Given the description of an element on the screen output the (x, y) to click on. 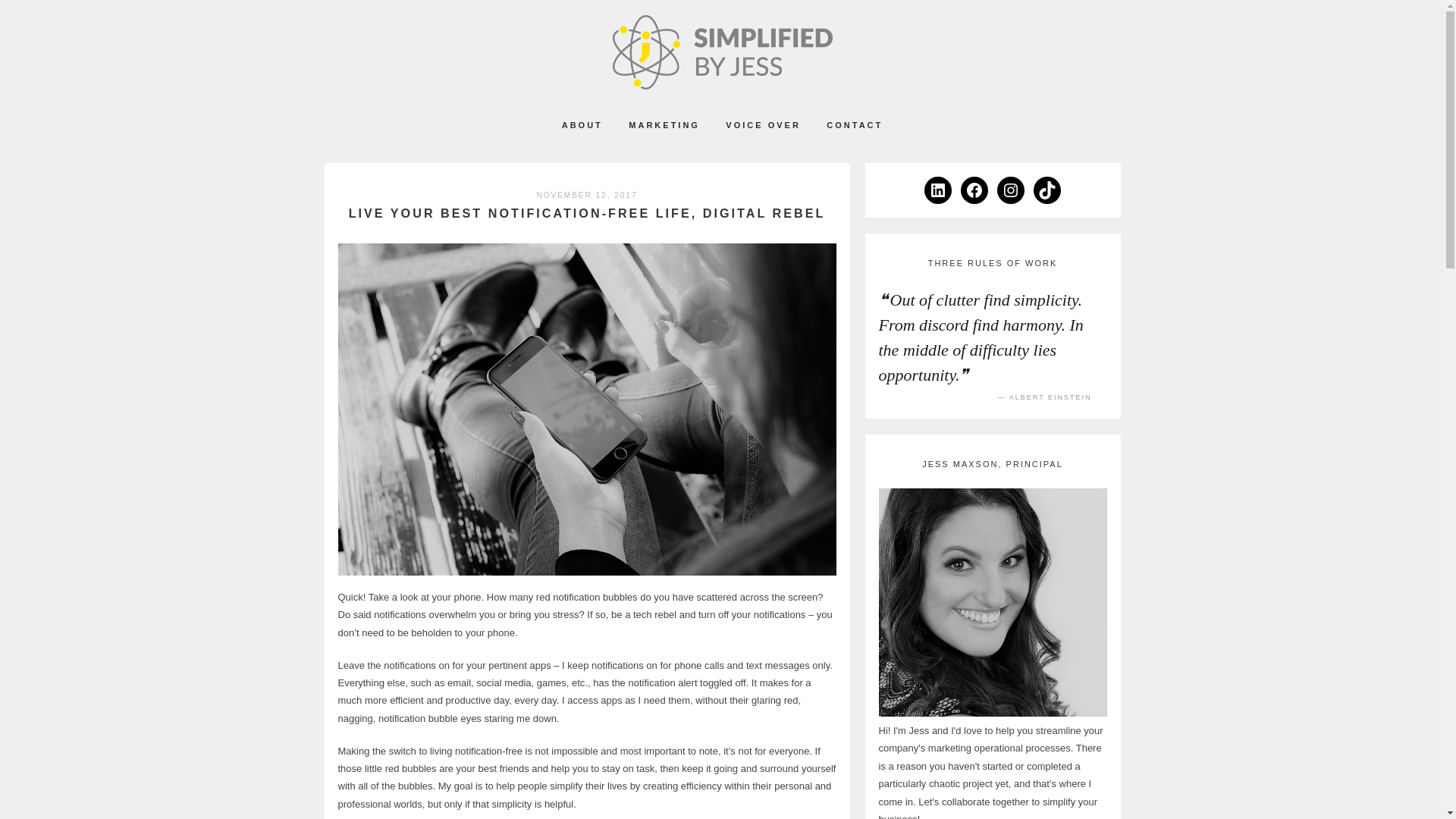
MARKETING (664, 125)
Facebook (974, 189)
TikTok (1047, 189)
VOICE OVER (762, 125)
CONTACT (854, 125)
ABOUT (582, 125)
Instagram (1011, 189)
LinkedIn (938, 189)
